Given the description of an element on the screen output the (x, y) to click on. 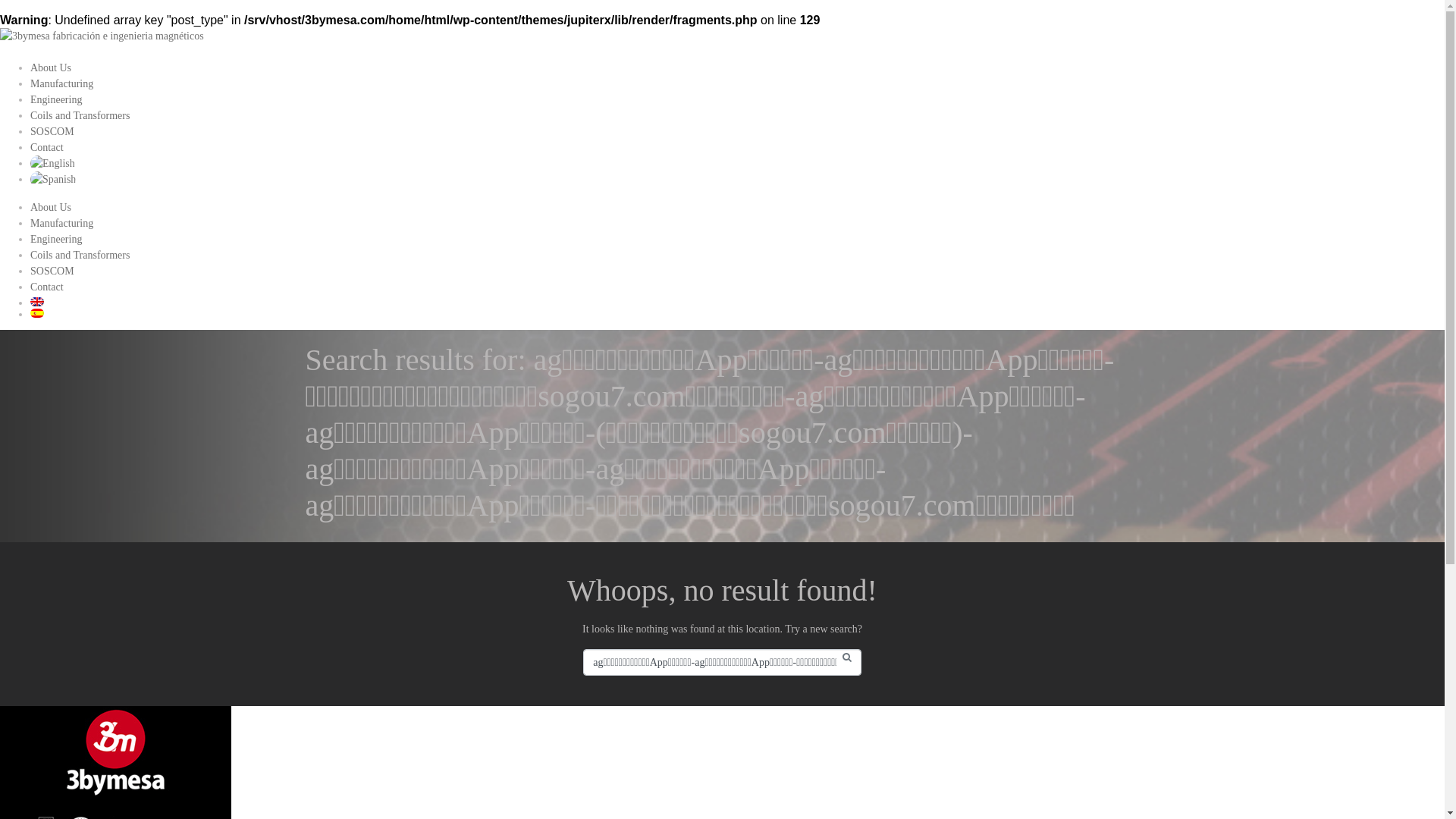
Coils and Transformers Element type: text (79, 254)
Contact Element type: text (46, 147)
Coils and Transformers Element type: text (79, 115)
Manufacturing Element type: text (61, 83)
About Us Element type: text (50, 207)
About Us Element type: text (50, 67)
Contact Element type: text (46, 286)
SOSCOM Element type: text (52, 131)
SOSCOM Element type: text (52, 270)
Engineering Element type: text (55, 99)
Engineering Element type: text (55, 238)
Manufacturing Element type: text (61, 223)
